Given the description of an element on the screen output the (x, y) to click on. 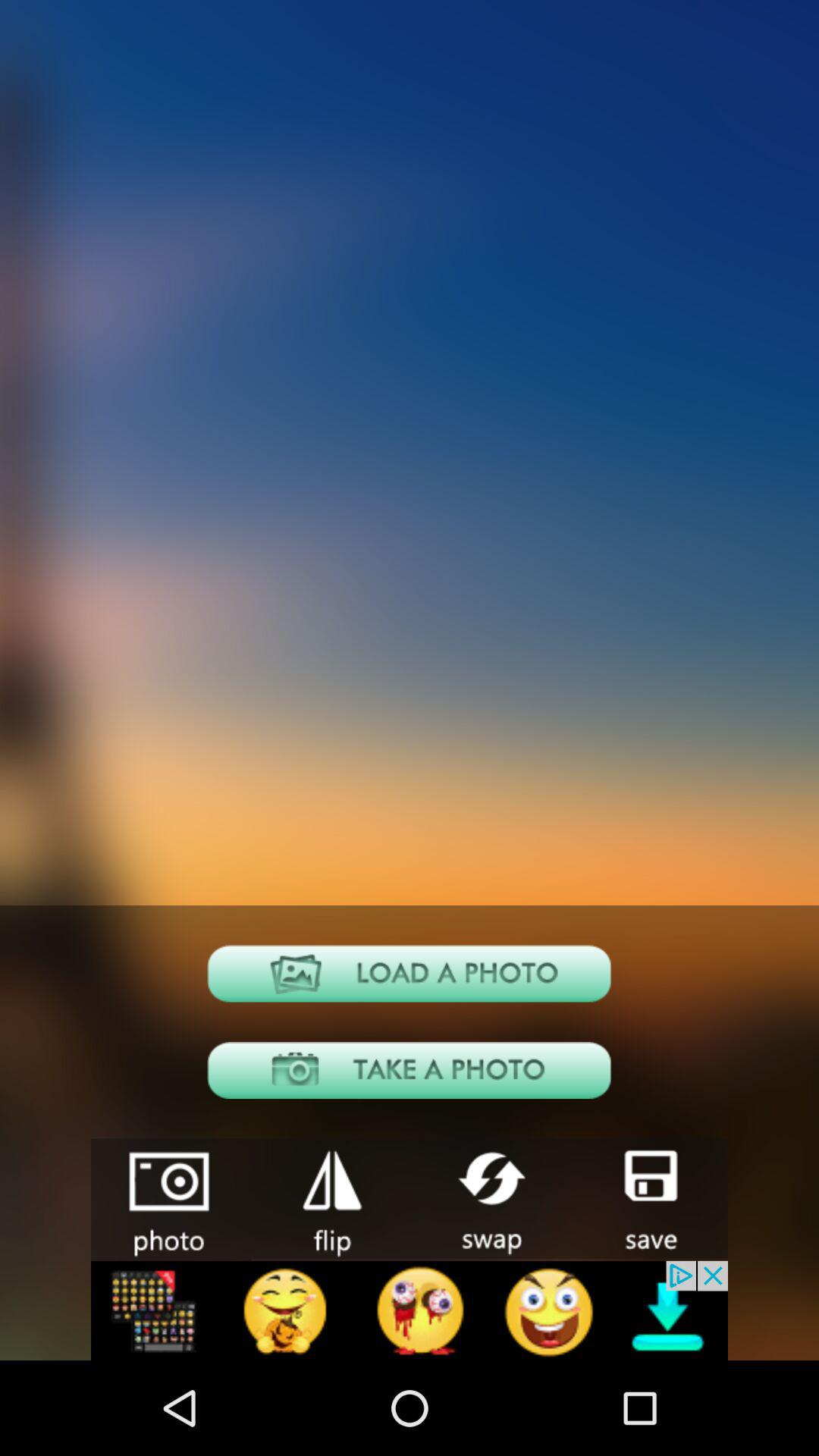
save (648, 1198)
